Given the description of an element on the screen output the (x, y) to click on. 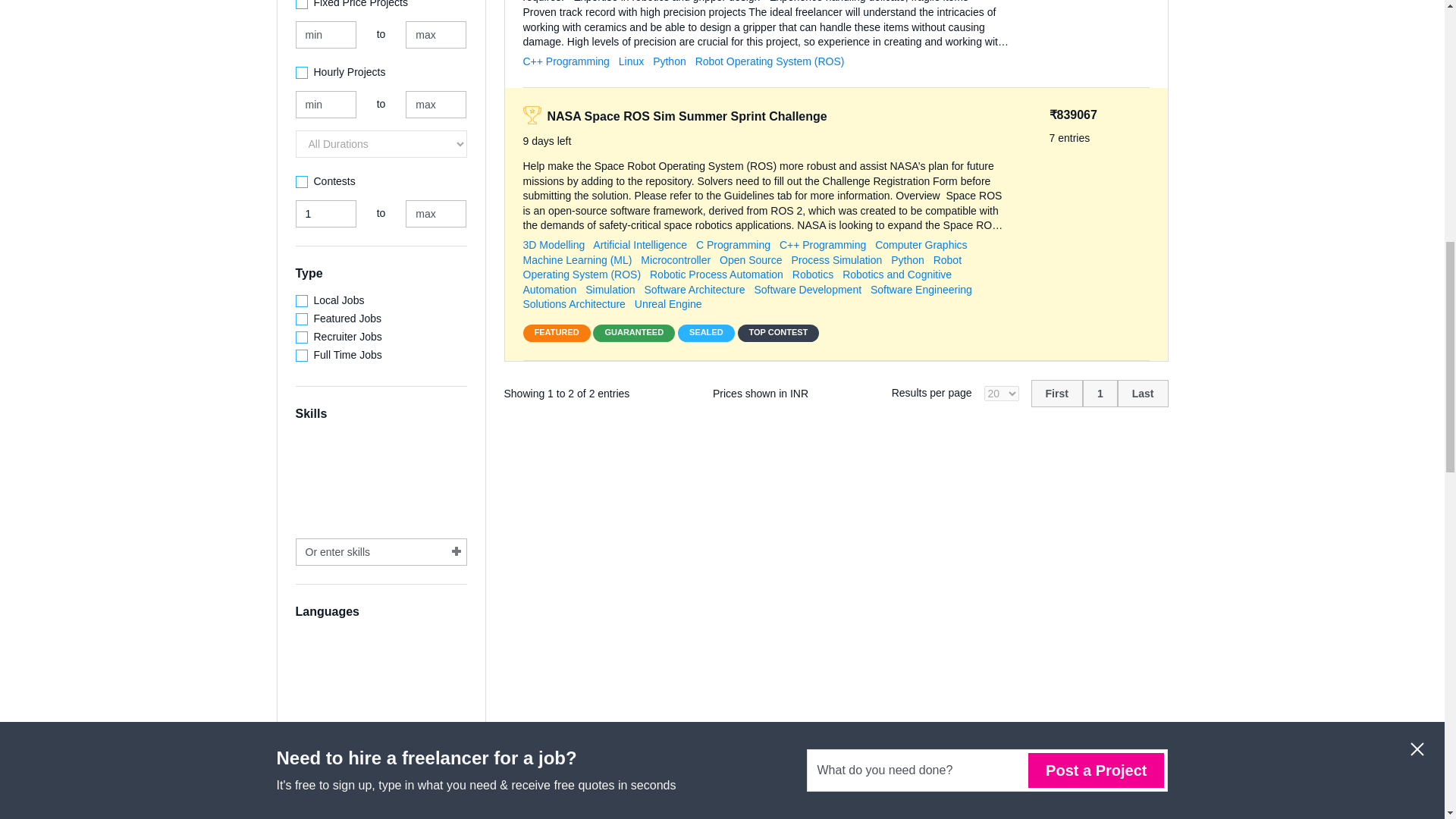
Computer Graphics (920, 244)
Python (668, 61)
Microcontroller (675, 259)
NASA Space ROS Sim Summer Sprint Challenge (687, 115)
3D Modelling (553, 244)
Process Simulation (836, 259)
C Programming (732, 244)
1 (325, 213)
Open Source (751, 259)
Artificial Intelligence (639, 244)
